Given the description of an element on the screen output the (x, y) to click on. 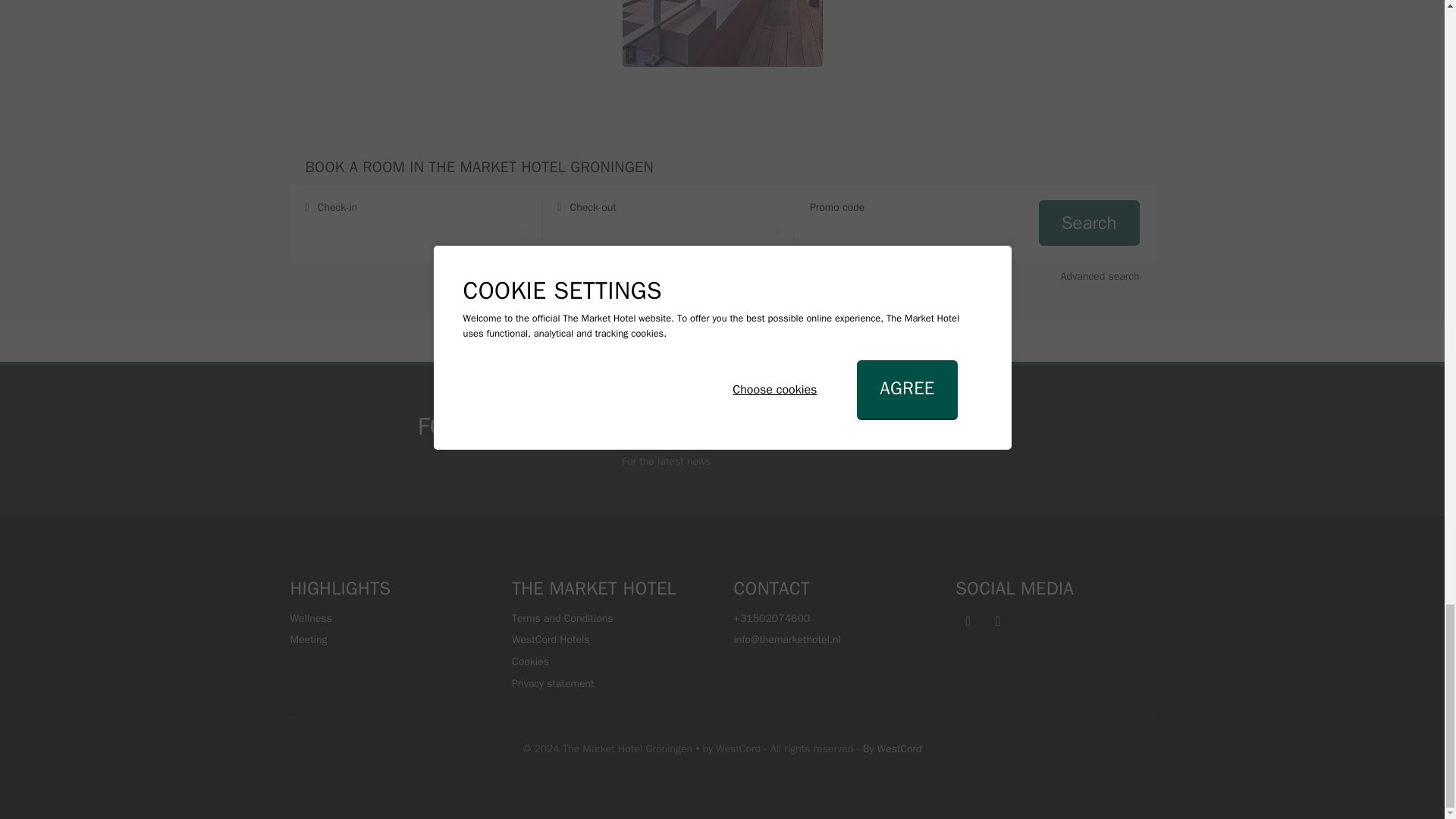
Rooms (768, 341)
Wellness (389, 619)
Follow us on Facebook (793, 440)
Sleep (716, 341)
Meeting (389, 640)
Home (668, 341)
WOW Suite (832, 341)
Search (1089, 222)
Advanced search (1099, 276)
Terms and Conditions (611, 619)
